Given the description of an element on the screen output the (x, y) to click on. 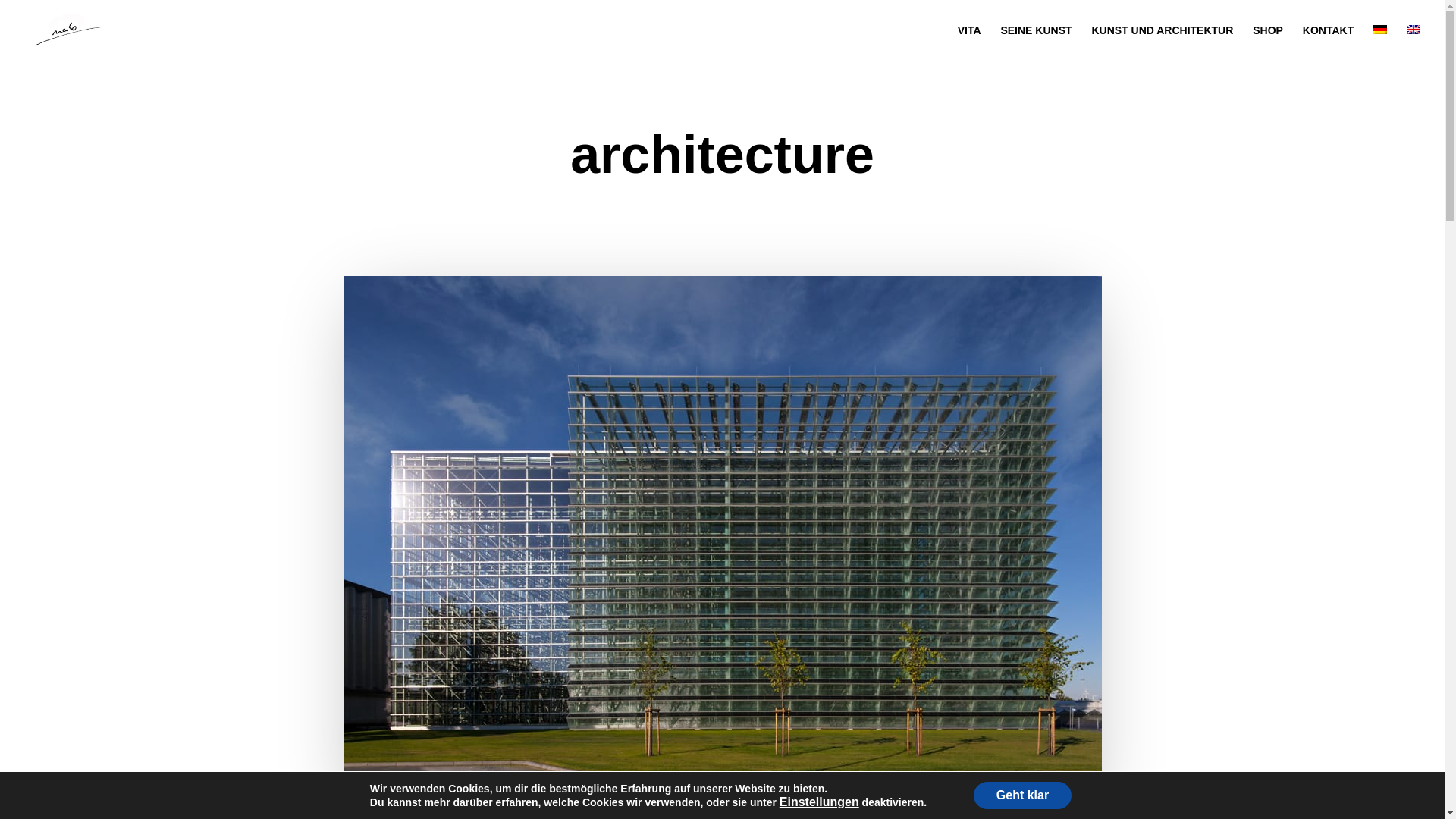
Geht klar (1022, 795)
SEINE KUNST (1035, 42)
Einstellungen (818, 802)
KUNST UND ARCHITEKTUR (1161, 42)
KONTAKT (1328, 42)
